Given the description of an element on the screen output the (x, y) to click on. 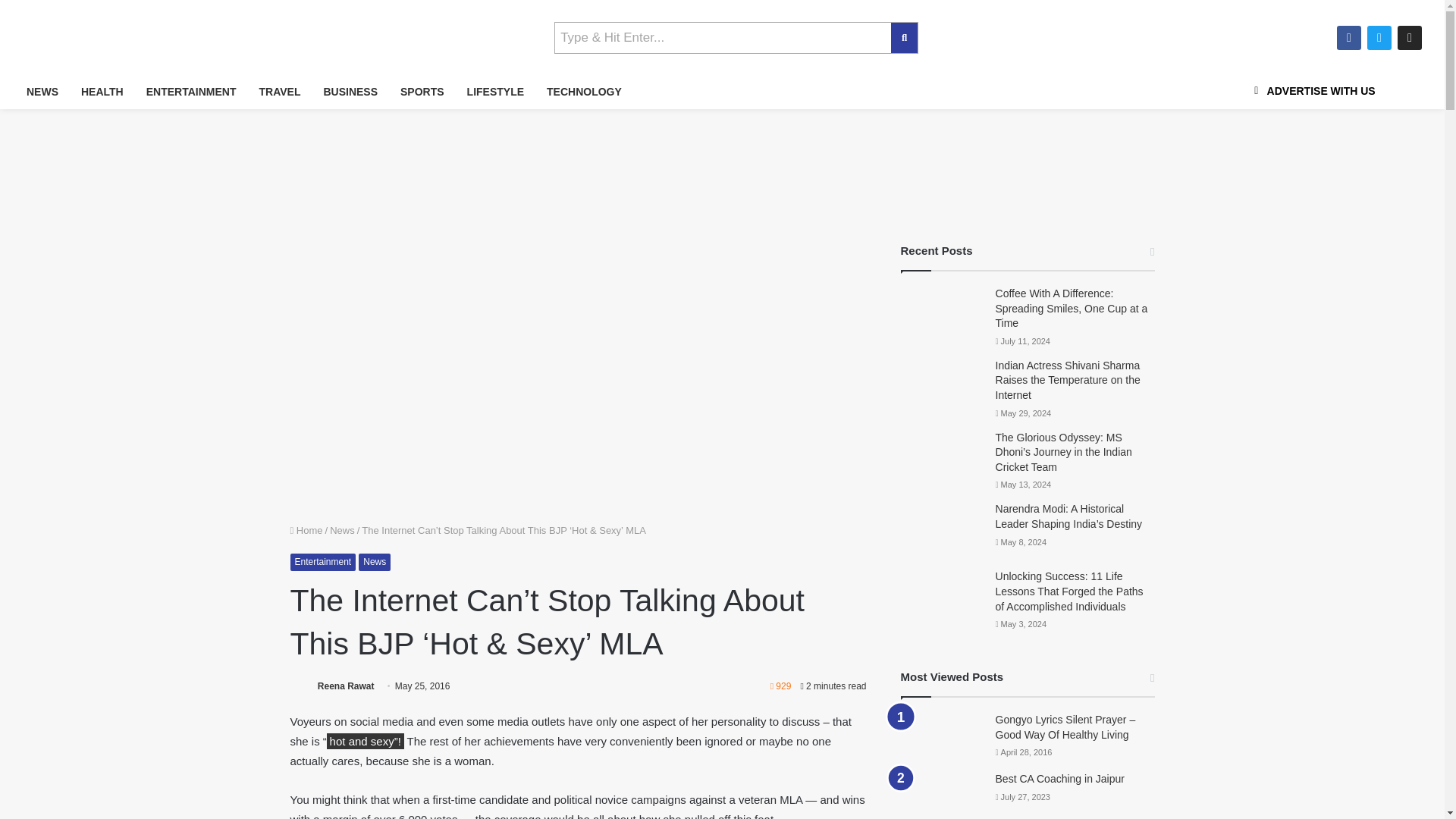
TRAVEL (279, 91)
HEALTH (102, 91)
ADVERTISE WITH US (1312, 90)
BUSINESS (349, 91)
Reena Rawat (345, 685)
ENTERTAINMENT (191, 91)
TECHNOLOGY (584, 91)
Search (722, 37)
LIFESTYLE (495, 91)
NEWS (41, 91)
